Given the description of an element on the screen output the (x, y) to click on. 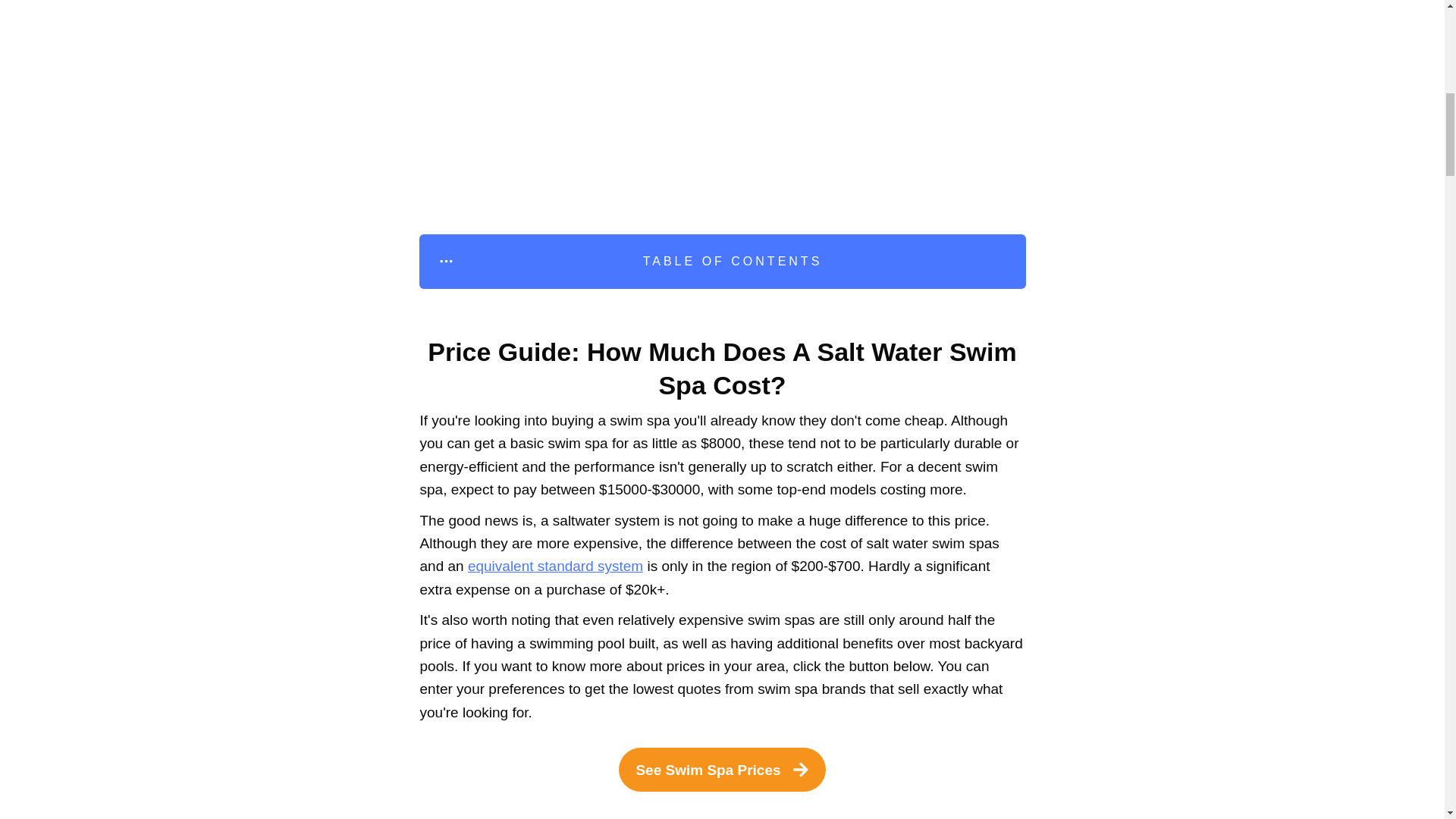
TABLE OF CONTENTS (722, 261)
See Swim Spa Prices (721, 769)
equivalent standard system (555, 565)
